Given the description of an element on the screen output the (x, y) to click on. 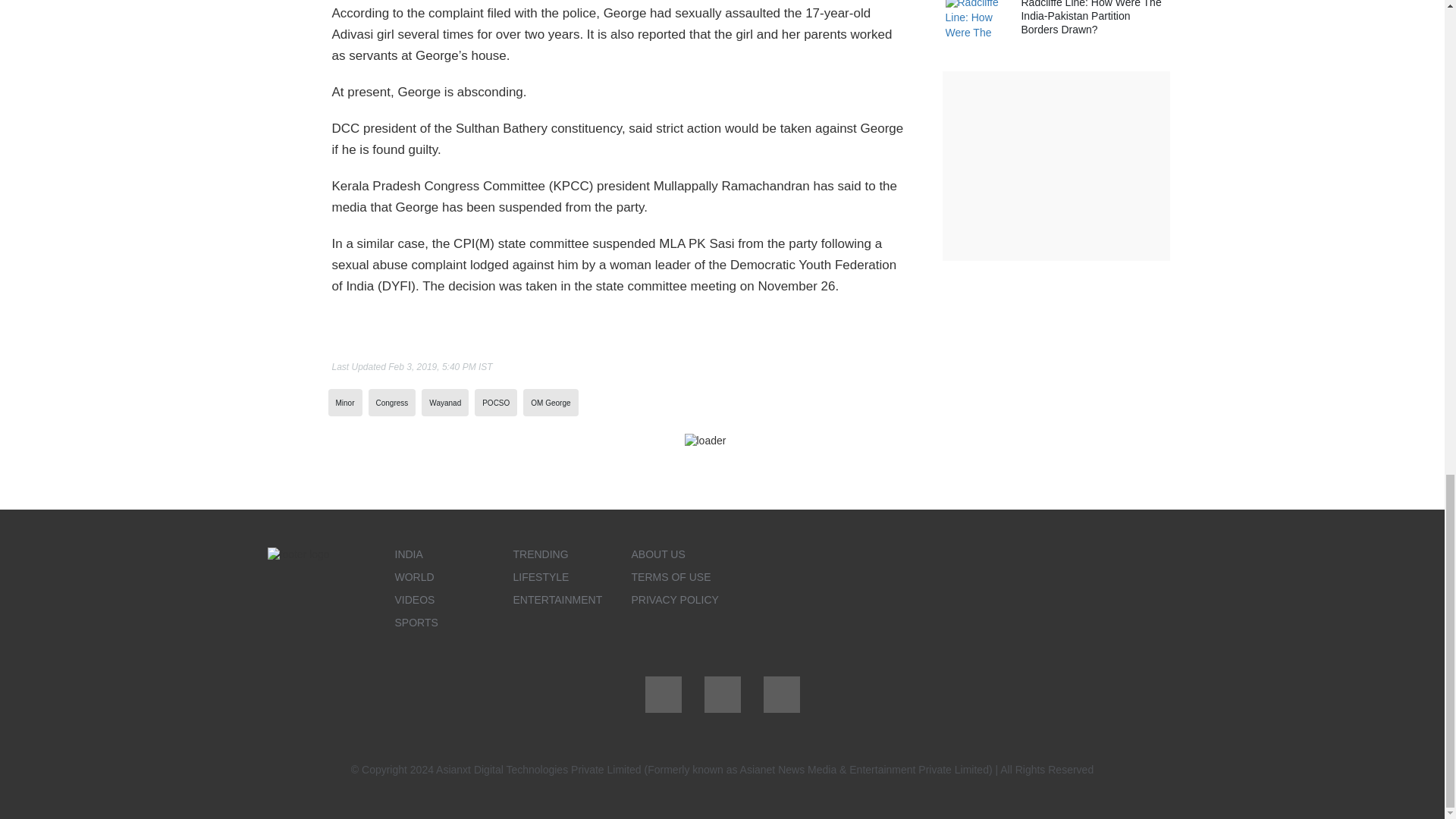
Minor (343, 402)
Congress (392, 402)
Wayanad (445, 402)
OM George (550, 402)
POCSO (495, 402)
